Given the description of an element on the screen output the (x, y) to click on. 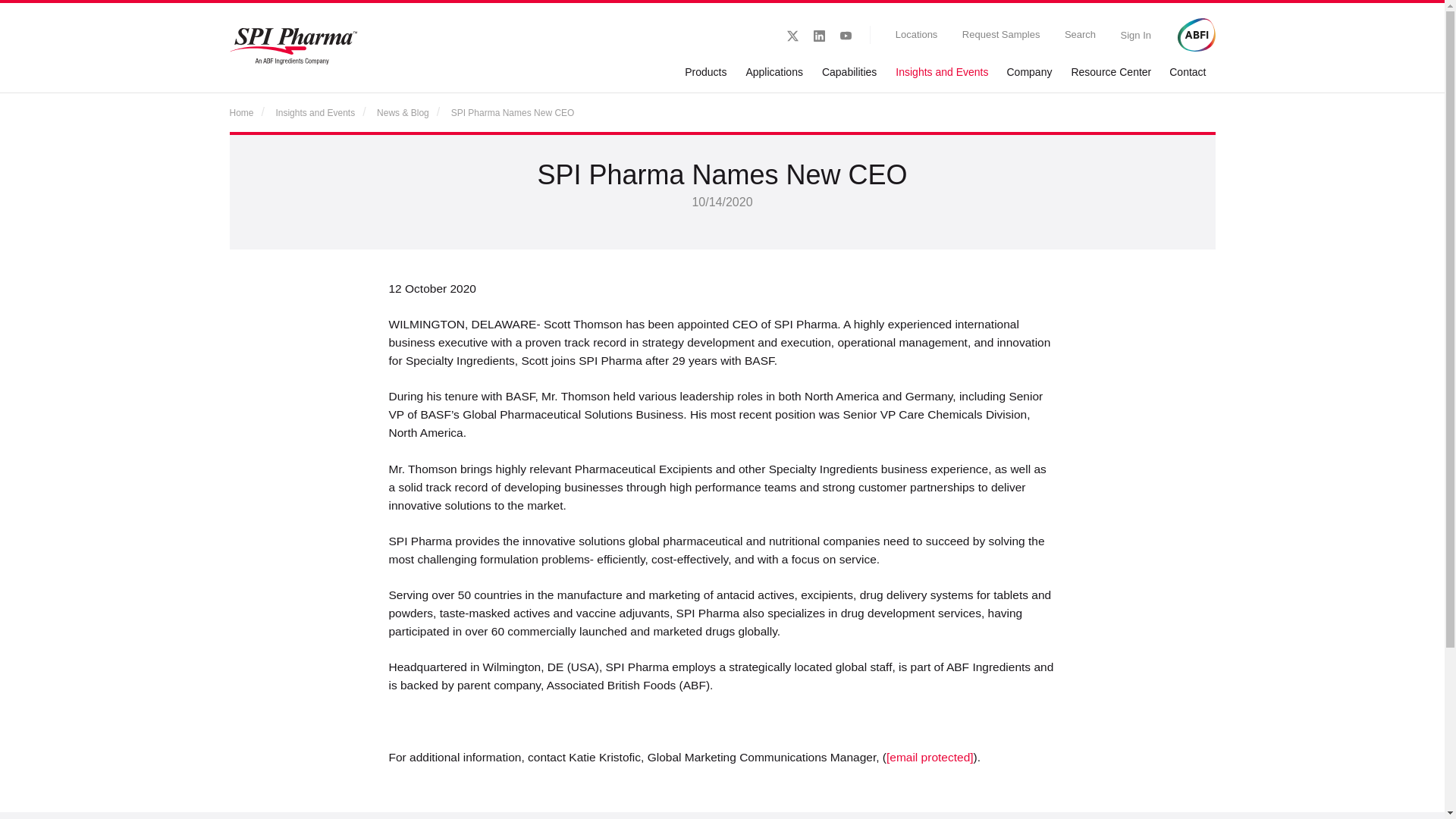
Sign In (1132, 35)
Products (705, 71)
Search (1077, 35)
Search (1077, 35)
SPI Pharma Names New CEO (513, 113)
Locations (913, 35)
Insights and Events (314, 113)
Request Samples (998, 35)
Home (244, 113)
Request Samples (998, 35)
